Given the description of an element on the screen output the (x, y) to click on. 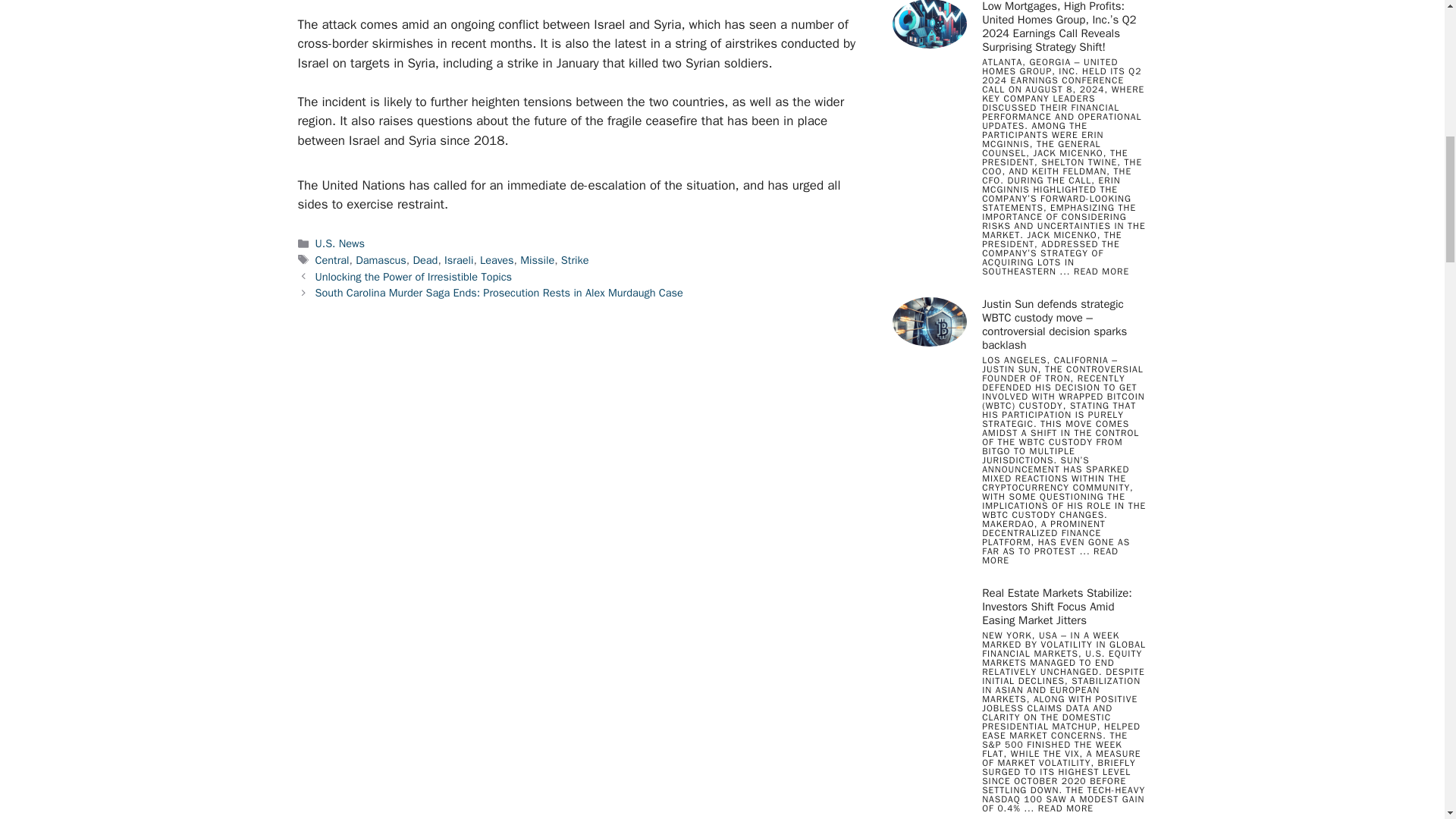
Central (332, 259)
READ MORE (1101, 271)
Damascus (380, 259)
Unlocking the Power of Irresistible Topics (413, 276)
READ MORE (1049, 555)
Missile (536, 259)
Strike (574, 259)
